Given the description of an element on the screen output the (x, y) to click on. 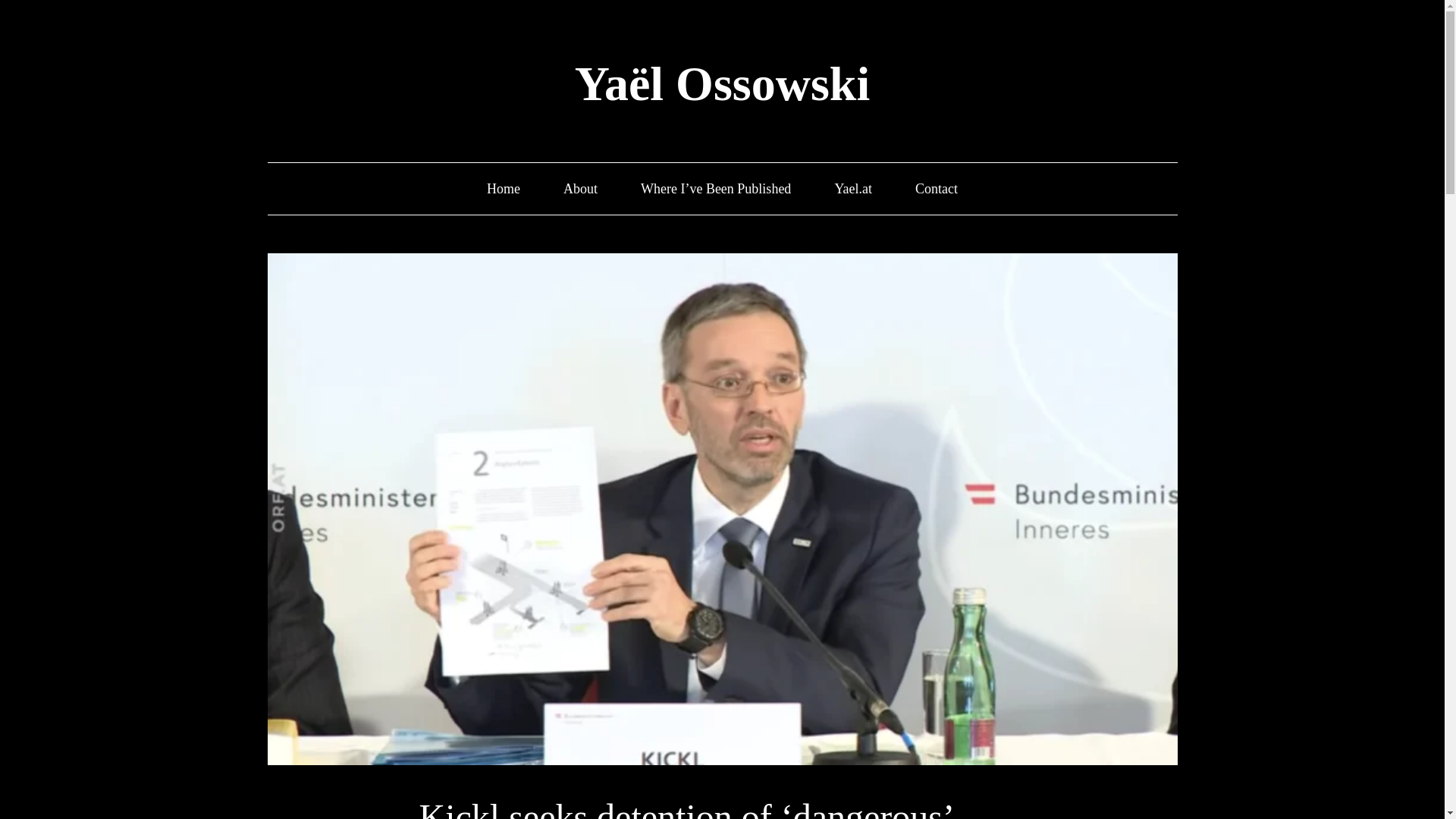
About (579, 188)
Yael.at (853, 188)
Contact (936, 188)
Home (502, 188)
